Given the description of an element on the screen output the (x, y) to click on. 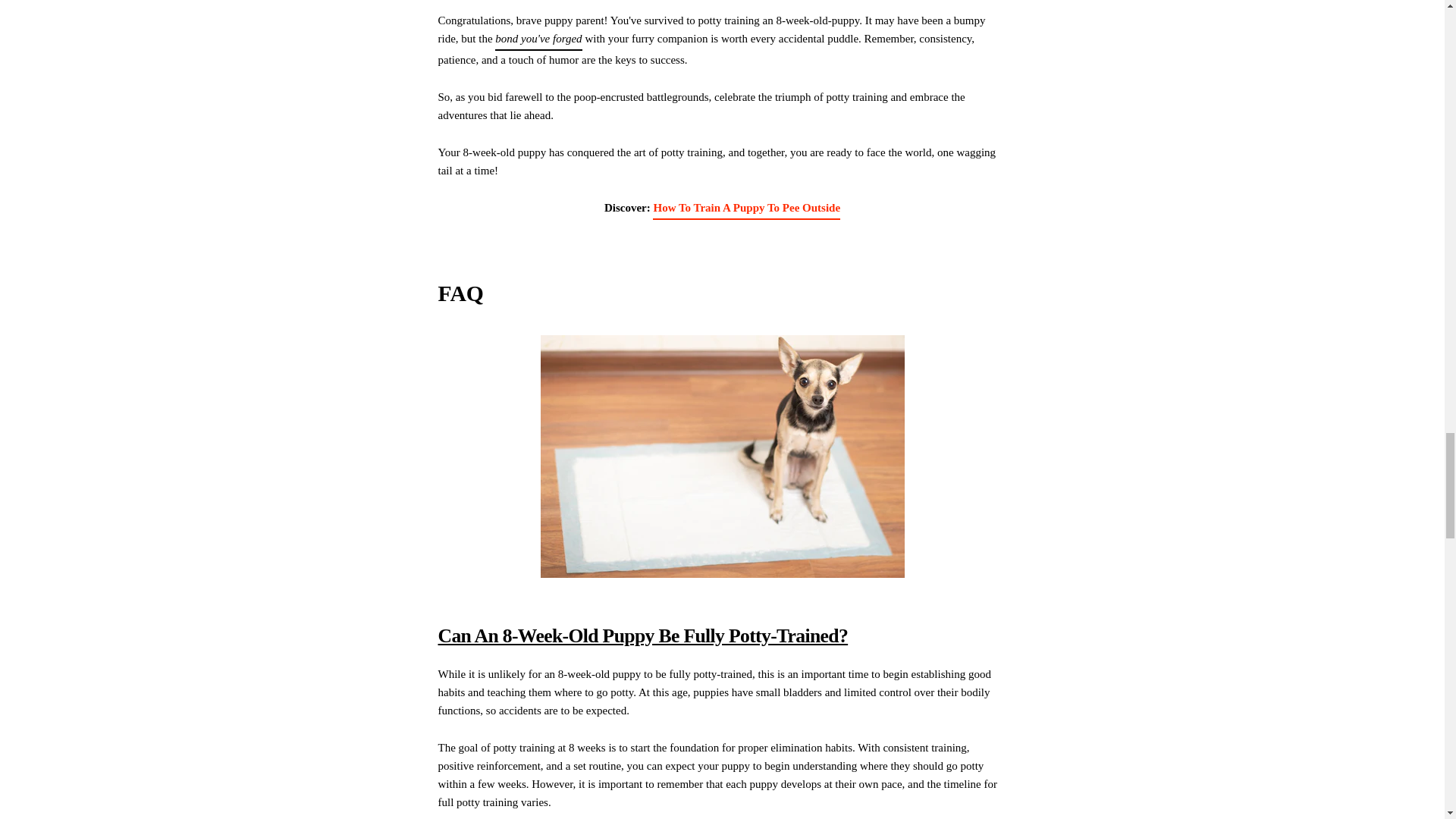
Discover: How To Train A Puppy To Pee Outside (746, 209)
How To Bond With Your Dog This Summer (537, 39)
How To Train A Puppy To Pee Outside (746, 209)
bond you've forged (537, 39)
